Given the description of an element on the screen output the (x, y) to click on. 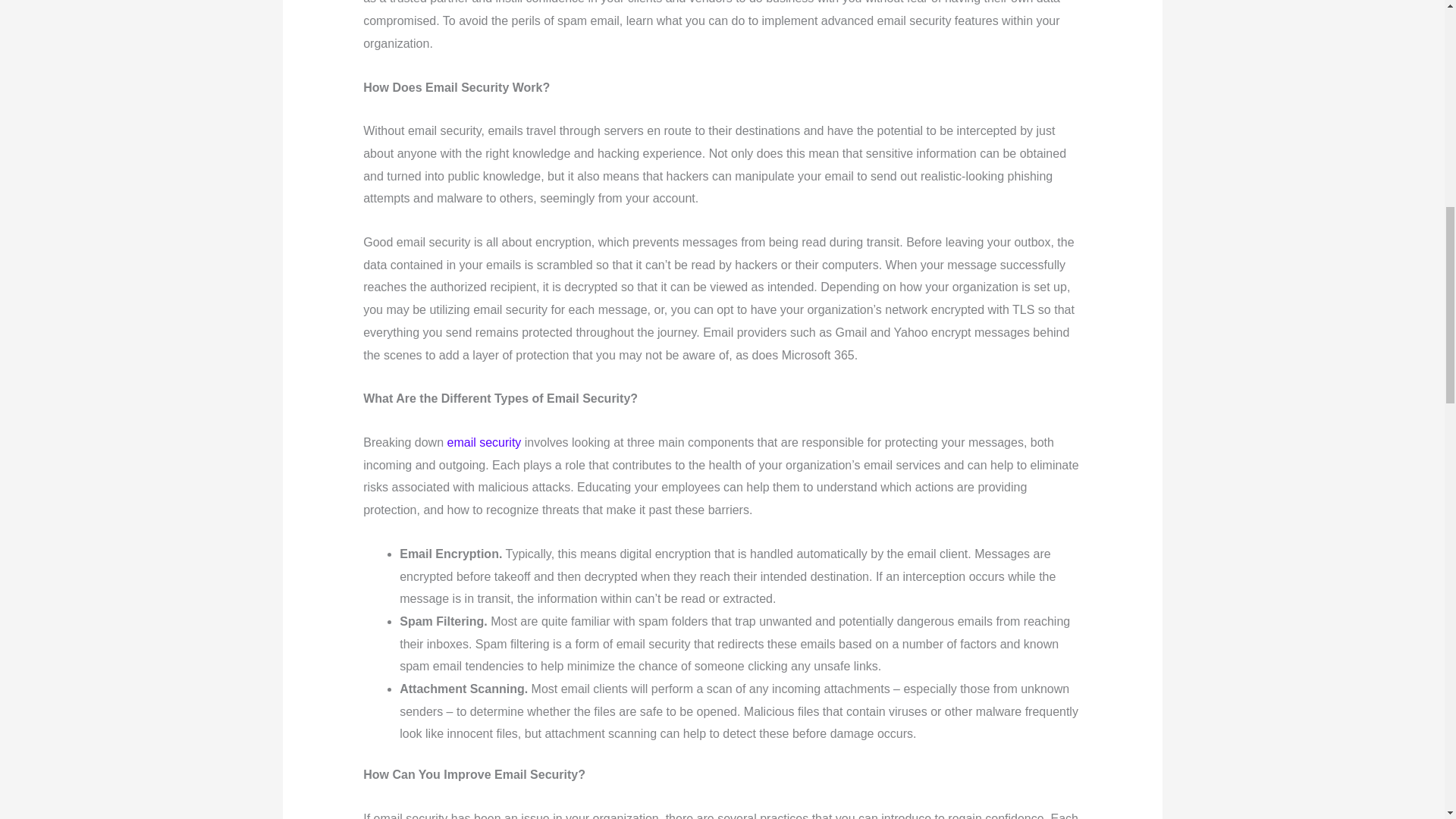
email security (483, 441)
